Given the description of an element on the screen output the (x, y) to click on. 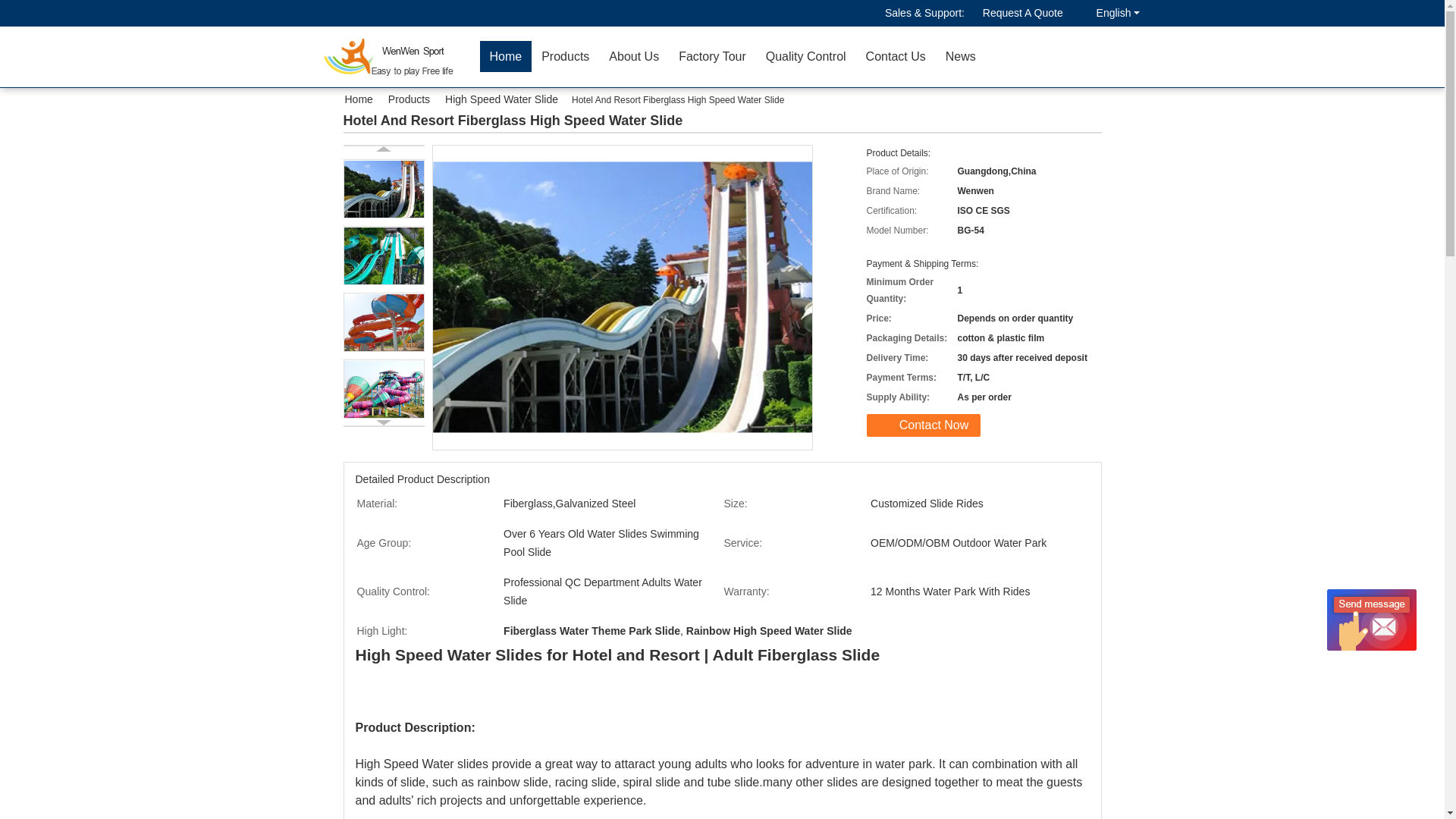
English (1110, 13)
Home (505, 56)
Request A Quote (1022, 13)
Products (564, 56)
